Given the description of an element on the screen output the (x, y) to click on. 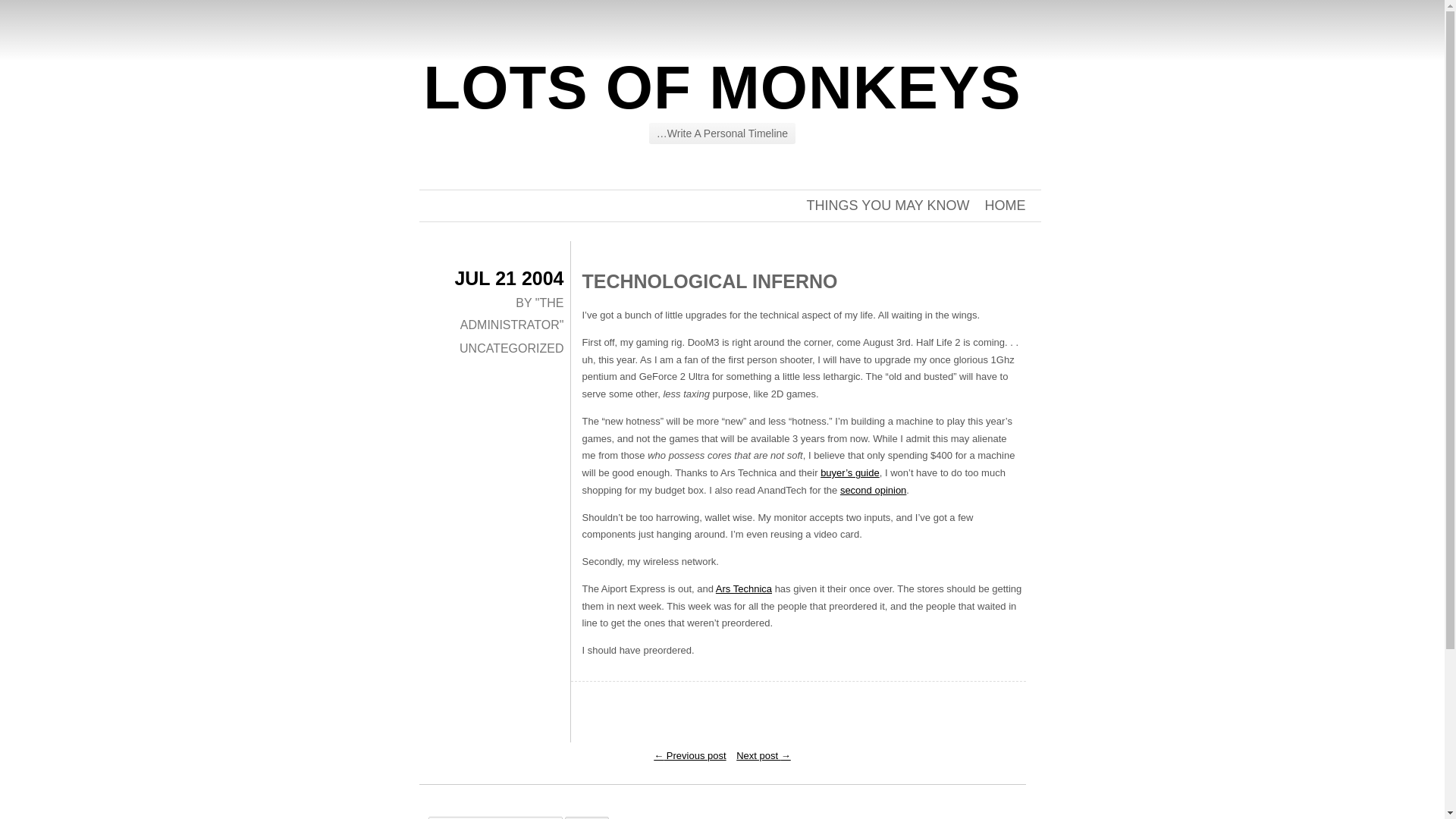
LOTS OF MONKEYS (721, 87)
UNCATEGORIZED (511, 348)
second opinion (872, 490)
BY "THE ADMINISTRATOR" (512, 313)
THINGS YOU MAY KNOW (887, 205)
HOME (1004, 205)
Ars Technica (743, 588)
Search (586, 817)
Lots of Monkeys (721, 87)
JUL 21 2004 (508, 278)
Search (586, 817)
